Given the description of an element on the screen output the (x, y) to click on. 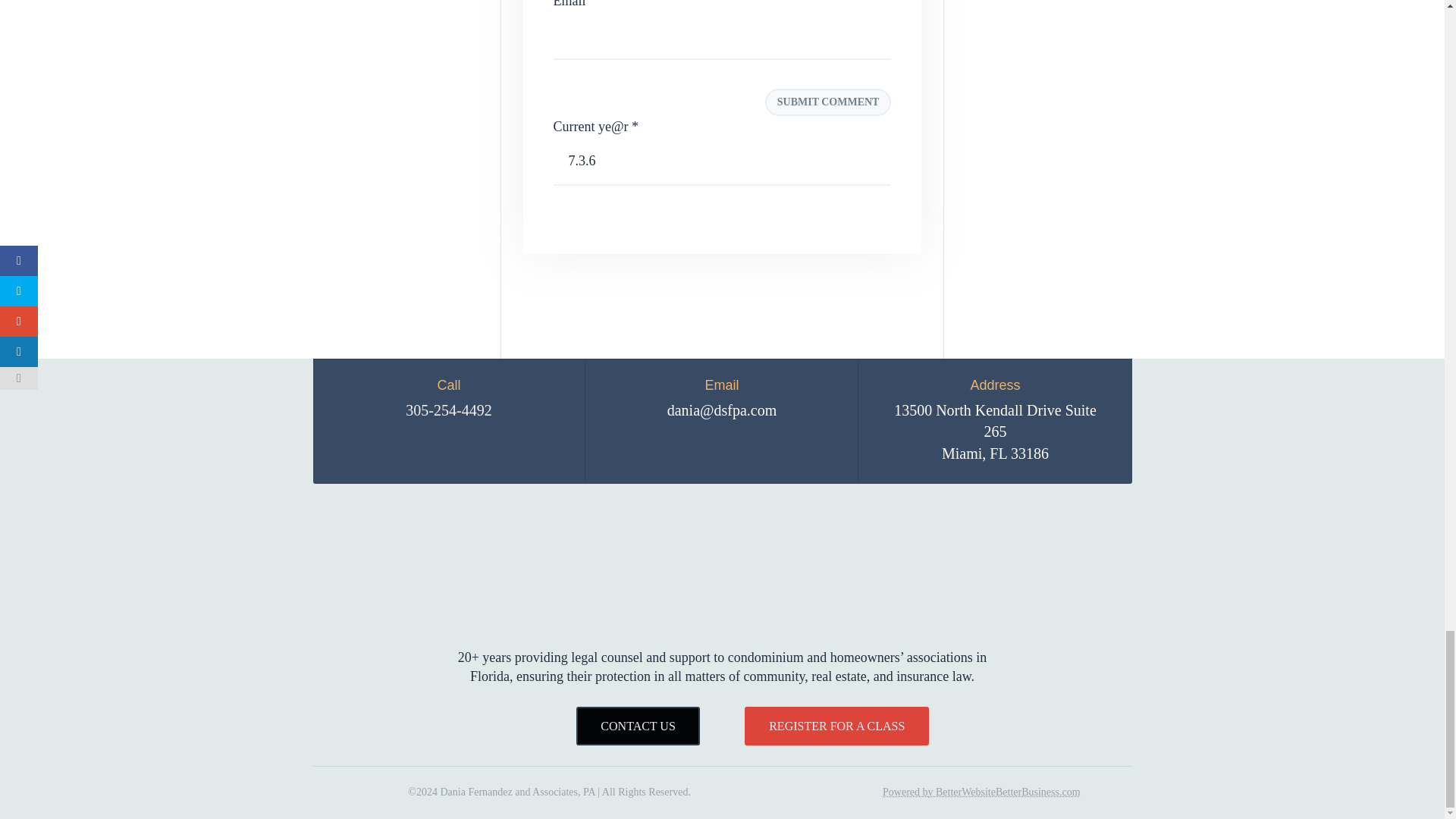
Submit Comment (828, 102)
7.3.6 (722, 161)
Submit Comment (828, 102)
